Given the description of an element on the screen output the (x, y) to click on. 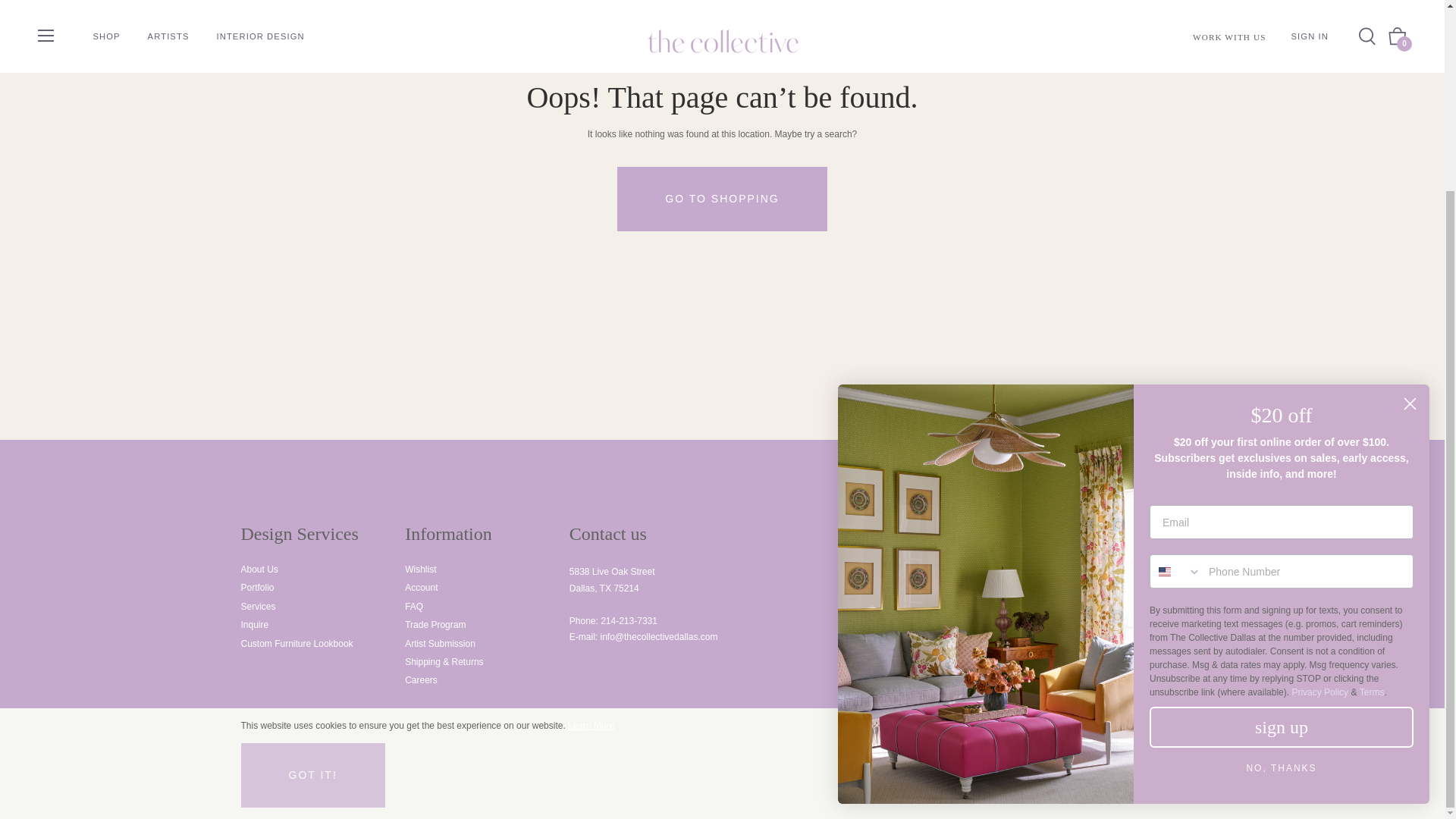
United States (1164, 333)
The Collective Dallas  on Pinterest (276, 785)
The Collective Dallas  on Facebook (247, 785)
The Collective Dallas  on Instagram (307, 785)
